Given the description of an element on the screen output the (x, y) to click on. 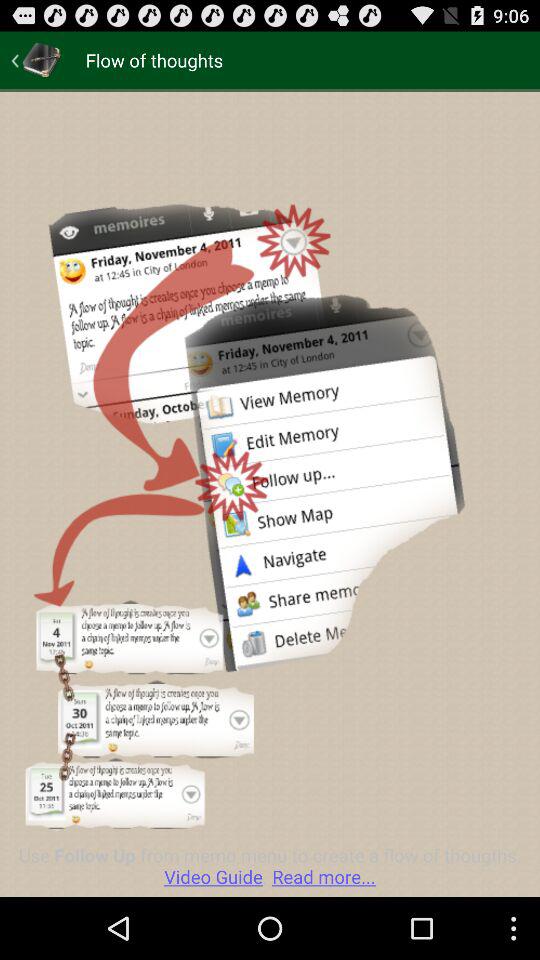
select icon at the bottom (270, 866)
